Given the description of an element on the screen output the (x, y) to click on. 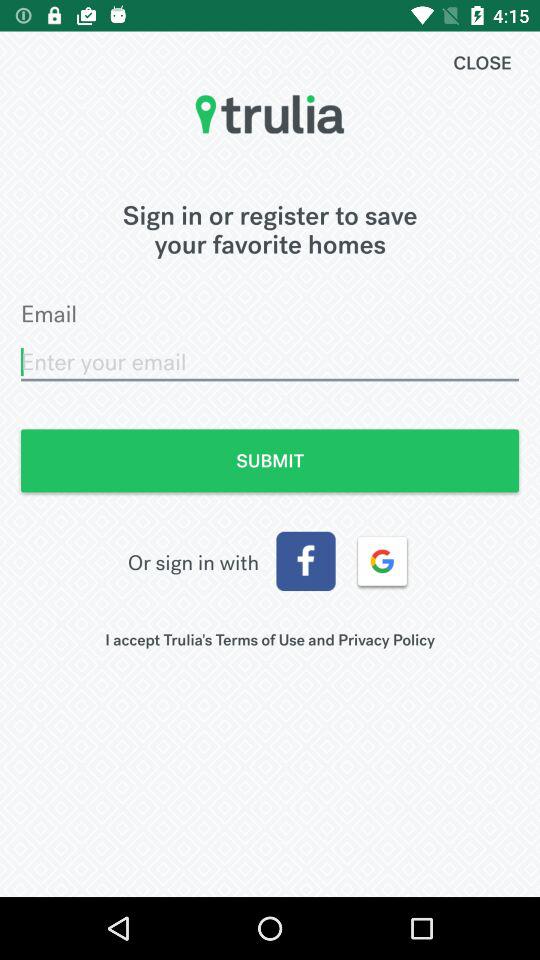
press the item on the right (382, 561)
